Given the description of an element on the screen output the (x, y) to click on. 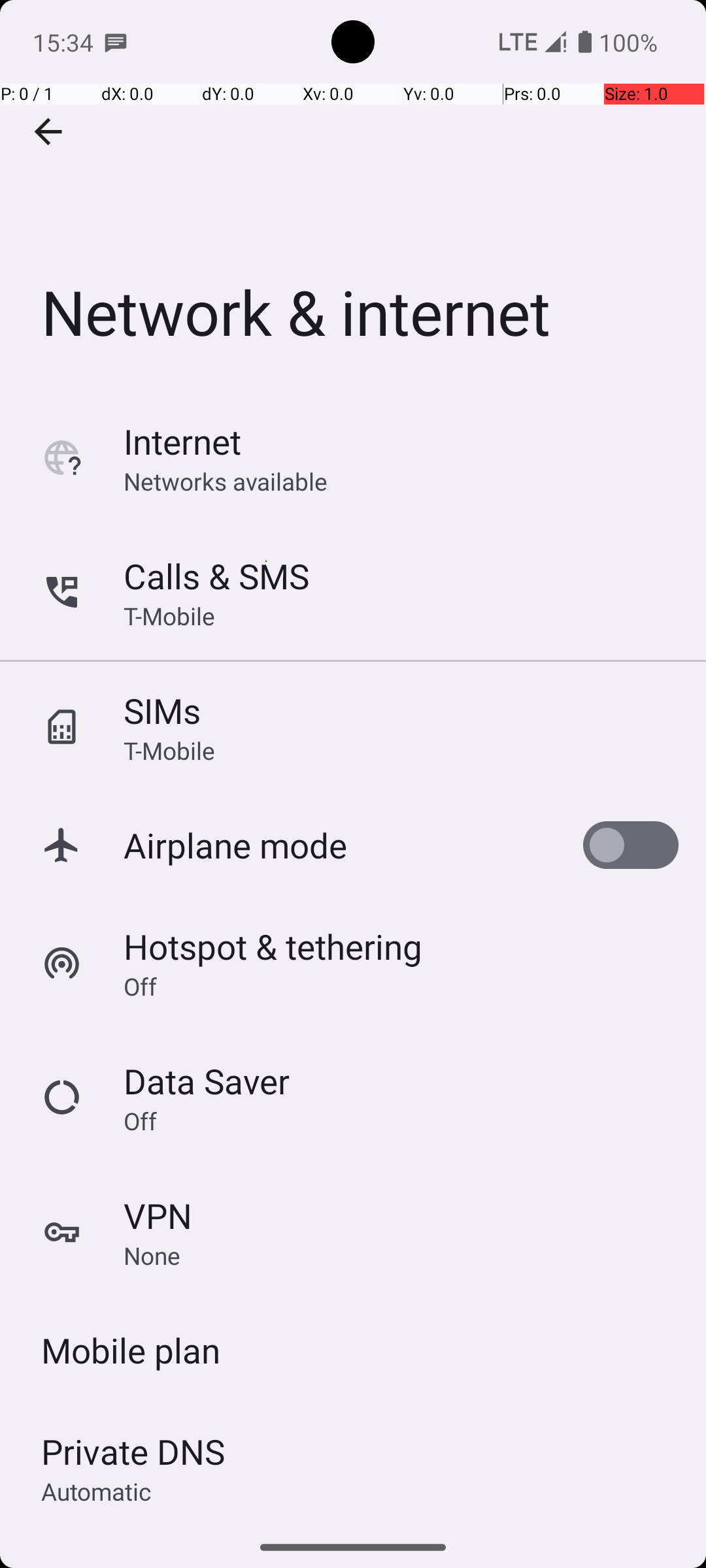
Networks available Element type: android.widget.TextView (225, 480)
Calls & SMS Element type: android.widget.TextView (216, 575)
SIMs Element type: android.widget.TextView (161, 710)
Airplane mode Element type: android.widget.TextView (235, 844)
Hotspot & tethering Element type: android.widget.TextView (272, 946)
VPN Element type: android.widget.TextView (157, 1215)
Mobile plan Element type: android.widget.TextView (130, 1349)
Private DNS Element type: android.widget.TextView (132, 1451)
